Given the description of an element on the screen output the (x, y) to click on. 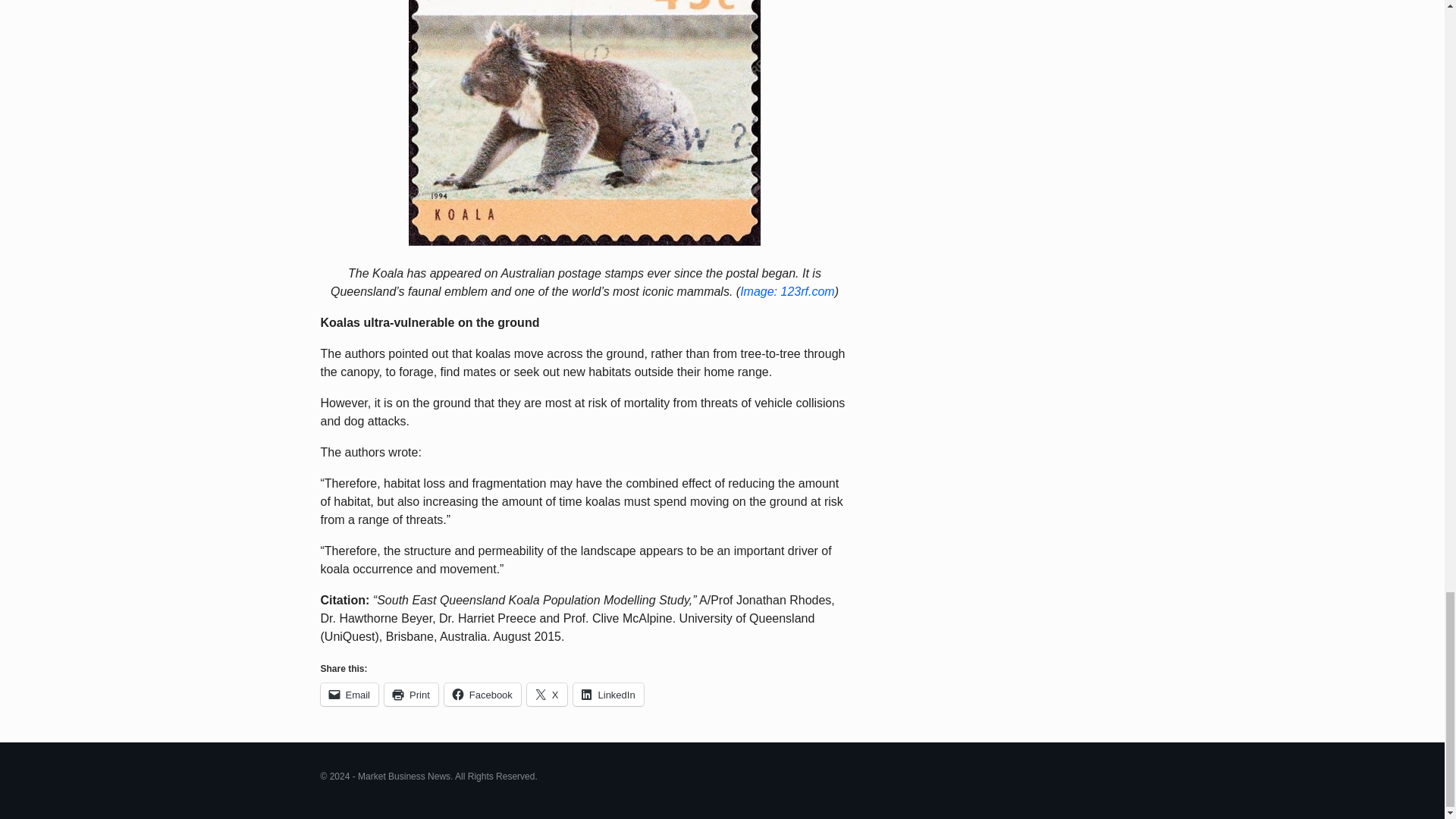
Click to share on LinkedIn (608, 694)
Image: 123rf.com (786, 291)
Click to share on X (547, 694)
Print (411, 694)
Facebook (482, 694)
Click to email a link to a friend (349, 694)
Click to print (411, 694)
X (547, 694)
Email (349, 694)
LinkedIn (608, 694)
